Given the description of an element on the screen output the (x, y) to click on. 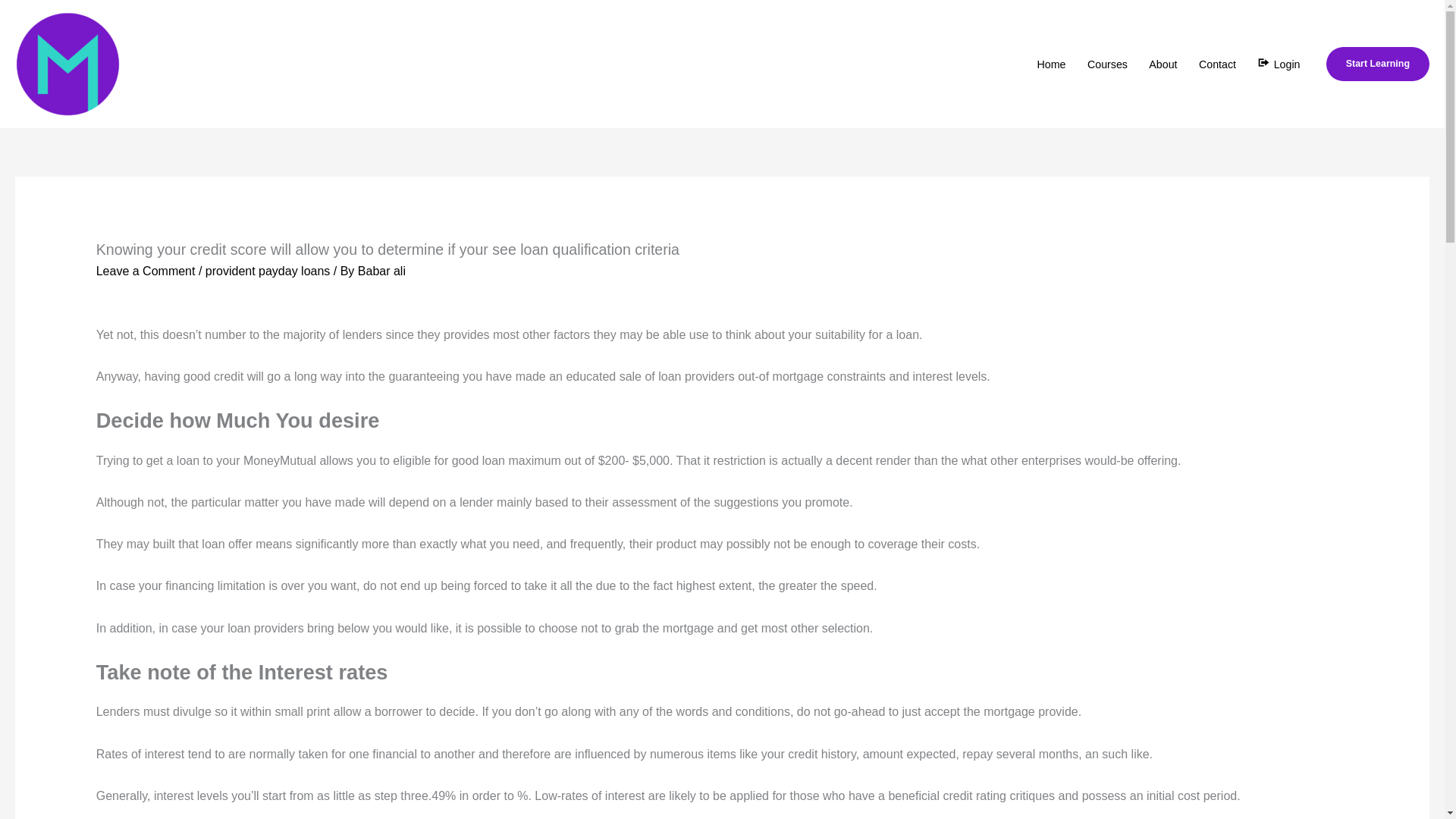
About (1163, 63)
View all posts by Babar ali (382, 270)
Courses (1107, 63)
Contact (1217, 63)
Login (1278, 63)
Leave a Comment (145, 270)
Home (1050, 63)
Babar ali (382, 270)
provident payday loans (267, 270)
Start Learning (1377, 63)
